Given the description of an element on the screen output the (x, y) to click on. 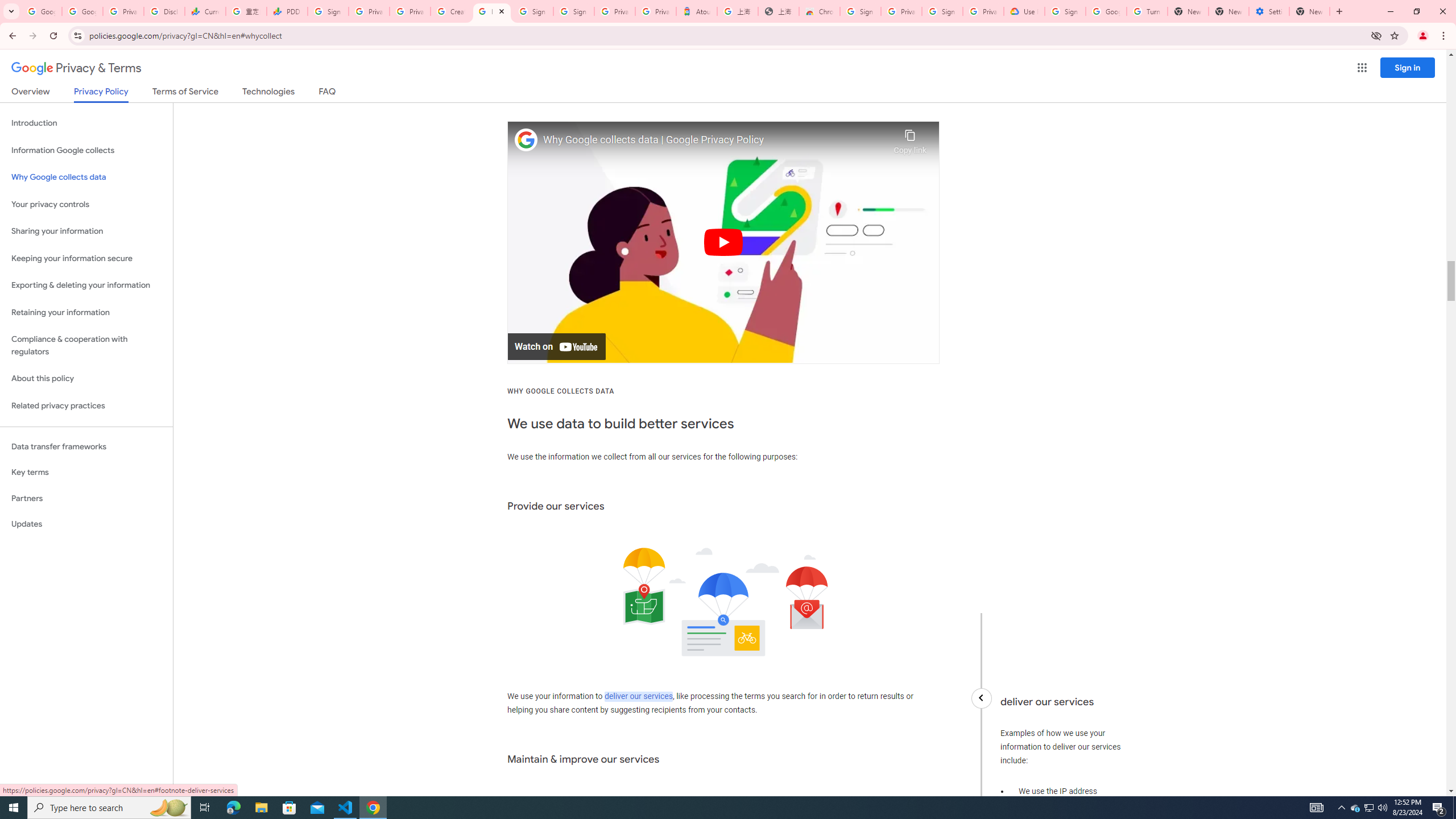
Chrome Web Store - Color themes by Chrome (818, 11)
Turn cookies on or off - Computer - Google Account Help (1146, 11)
Copy link (909, 139)
Currencies - Google Finance (205, 11)
Play (723, 242)
Sign in - Google Accounts (1064, 11)
New Tab (1309, 11)
Sign in - Google Accounts (573, 11)
